Given the description of an element on the screen output the (x, y) to click on. 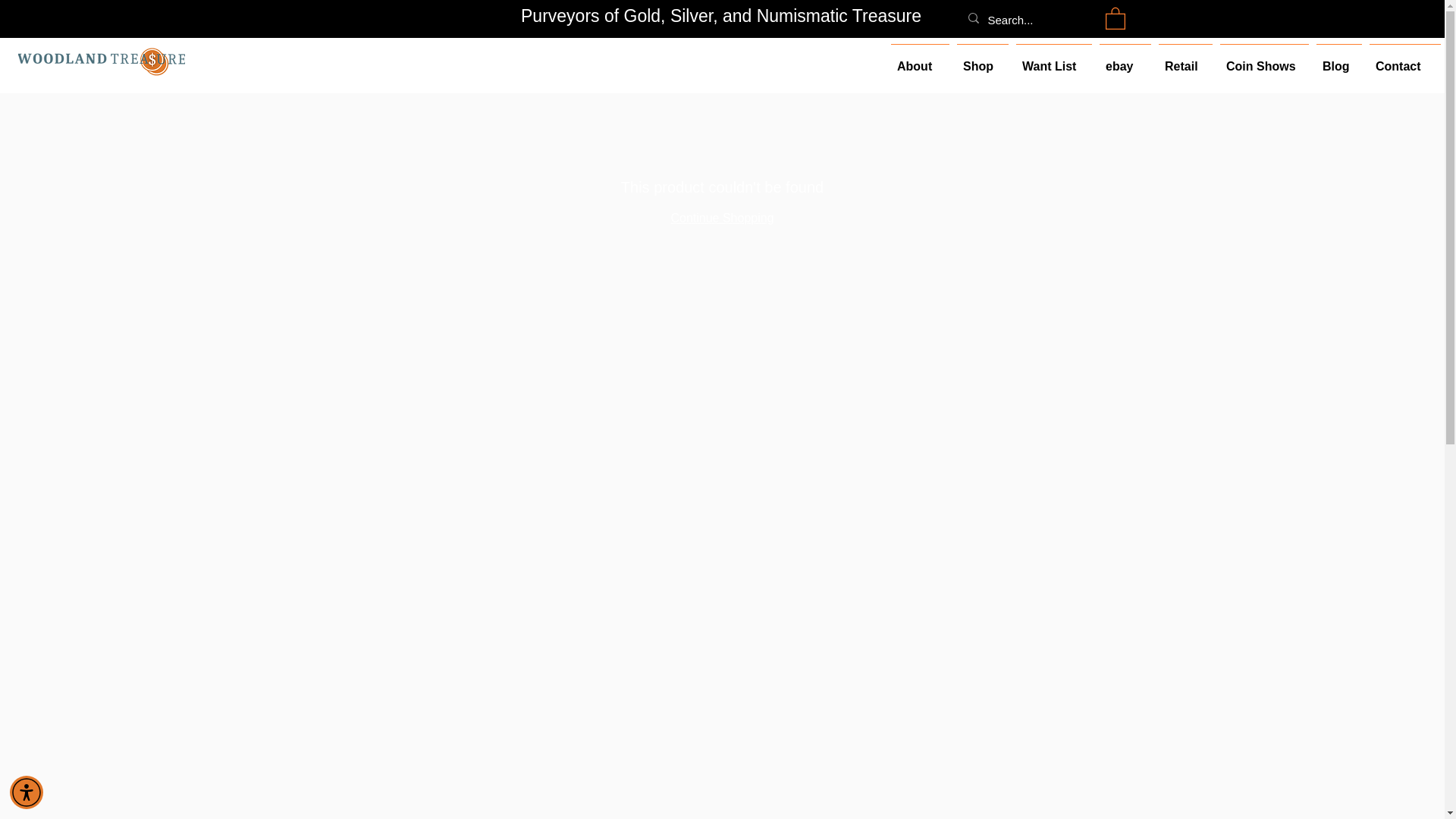
Woodland Treasure (100, 60)
Continue Shopping (721, 217)
Retail (1184, 59)
Want List (1053, 59)
Home (402, 79)
ebay (1125, 59)
Coin Shows (1264, 59)
Blog (1339, 59)
Shop (982, 59)
Accessibility Menu (26, 792)
About (919, 59)
